Given the description of an element on the screen output the (x, y) to click on. 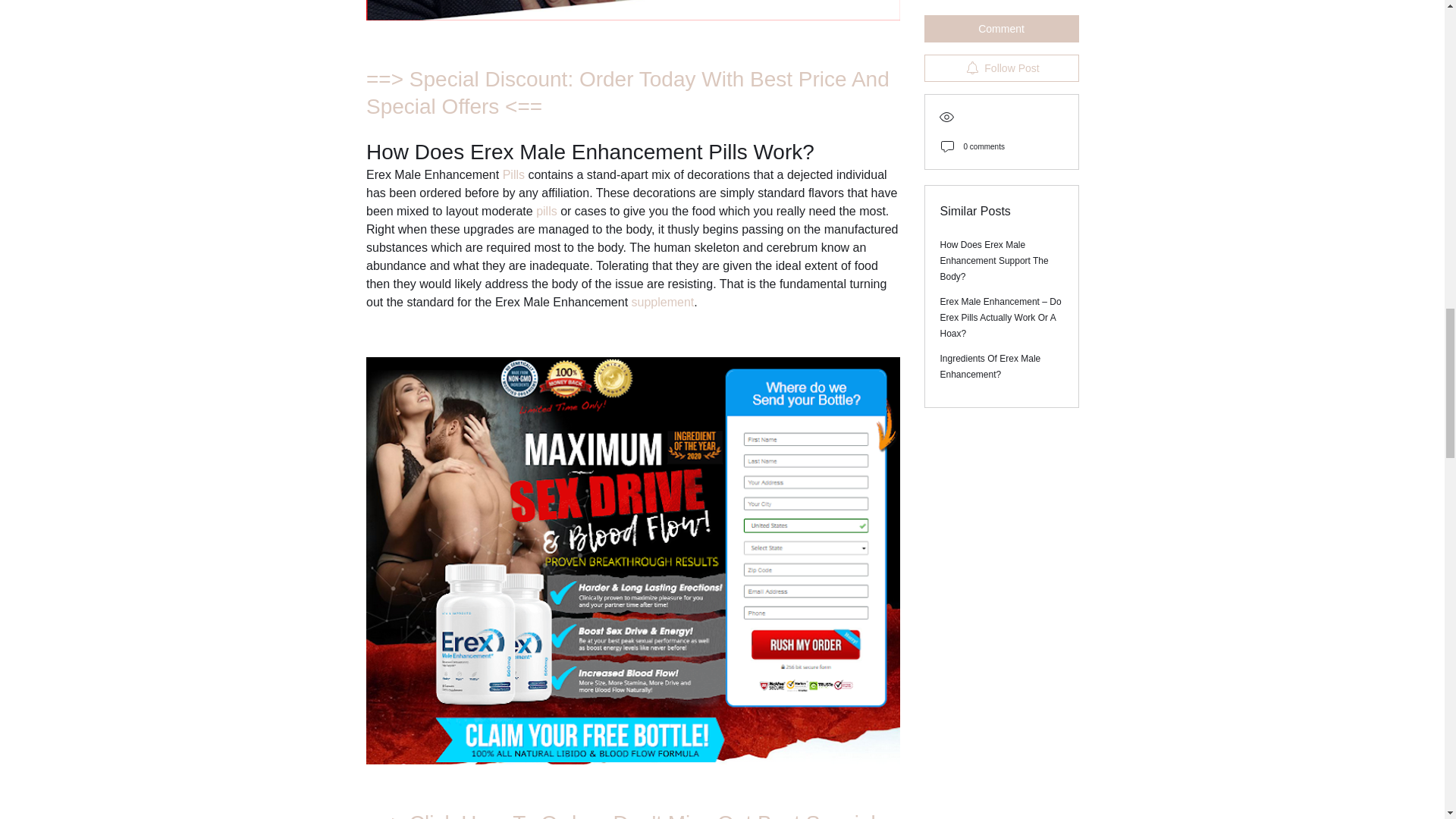
supplement (662, 301)
Pills  (514, 174)
pills  (547, 210)
